Given the description of an element on the screen output the (x, y) to click on. 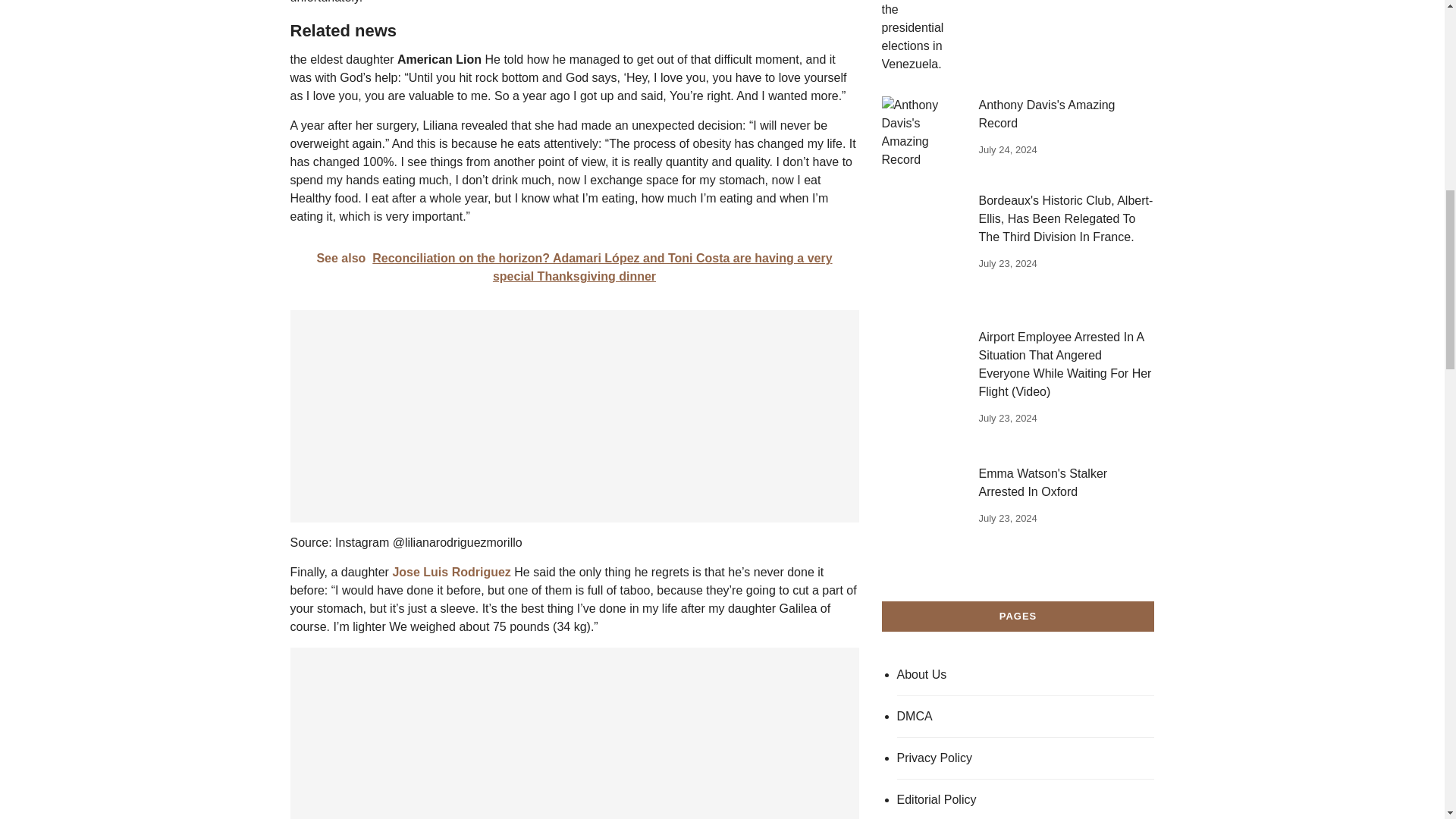
Jose Luis Rodriguez (451, 571)
Advertisement (574, 416)
Advertisement (574, 733)
Anthony Davis's Amazing Record (921, 132)
